Given the description of an element on the screen output the (x, y) to click on. 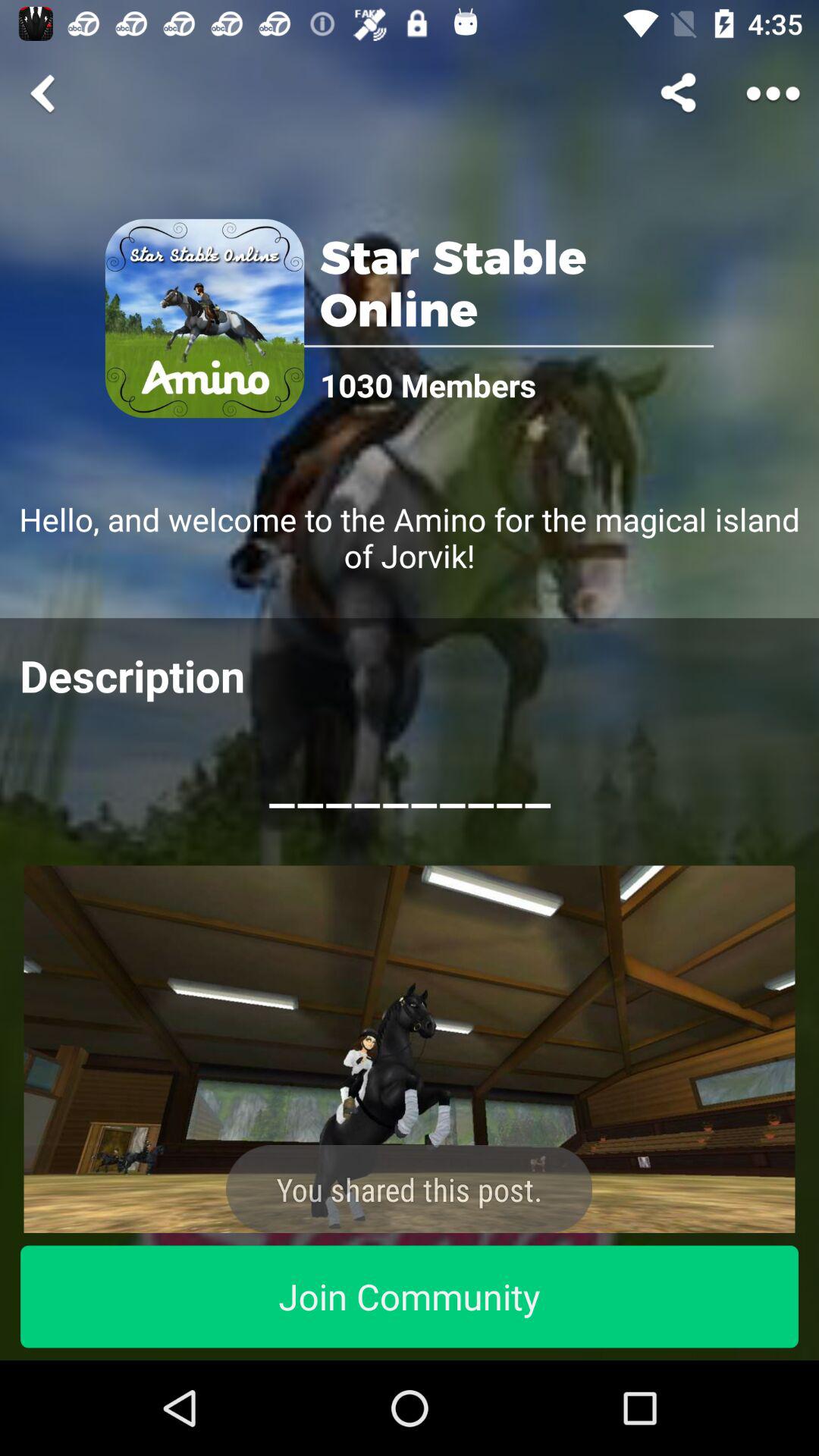
share option (681, 93)
